Given the description of an element on the screen output the (x, y) to click on. 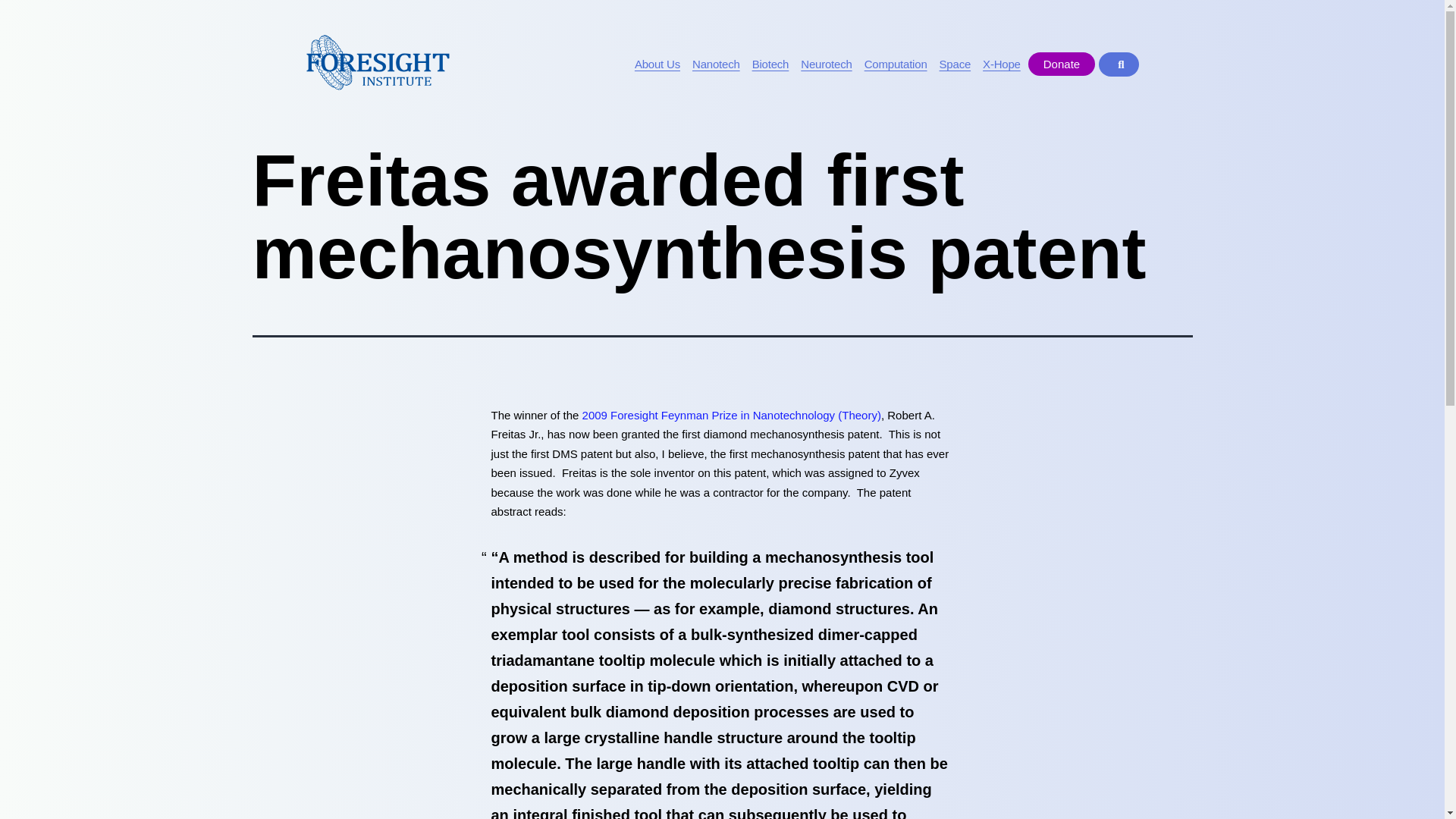
Biotech (770, 64)
Space (955, 64)
X-Hope (1001, 64)
About Us (657, 64)
Neurotech (826, 64)
Donate (1060, 64)
Nanotech (716, 64)
Computation (895, 64)
